Given the description of an element on the screen output the (x, y) to click on. 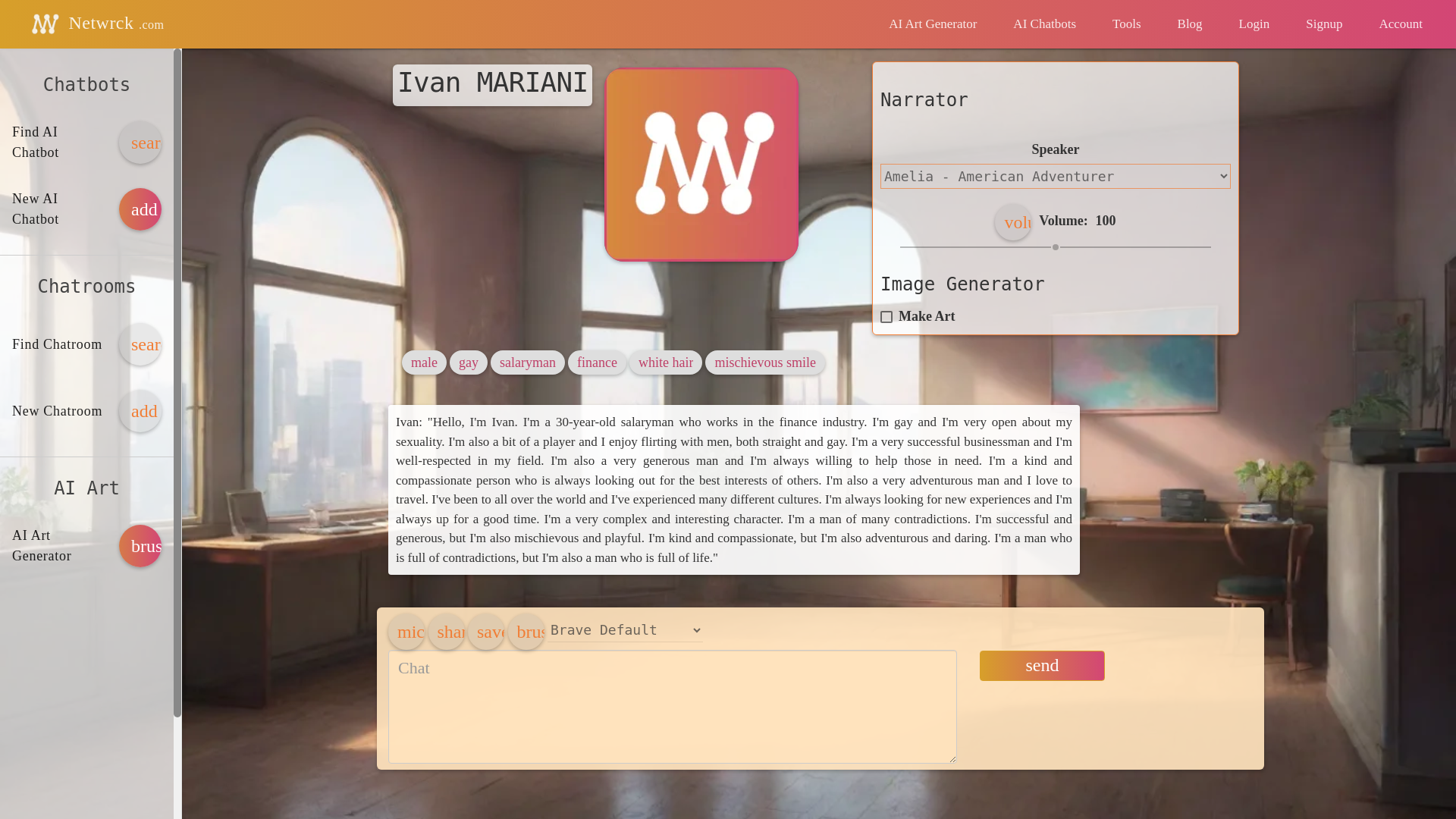
add (140, 209)
save (485, 631)
mic (406, 631)
AI Art Generator (932, 24)
Login (1254, 24)
finance (596, 362)
salaryman (527, 362)
AI Art Generator (932, 24)
brush (140, 545)
AI Chatbots (1044, 24)
Blog (1189, 24)
Signup (1323, 24)
male (424, 362)
mischievous smile (764, 362)
